Given the description of an element on the screen output the (x, y) to click on. 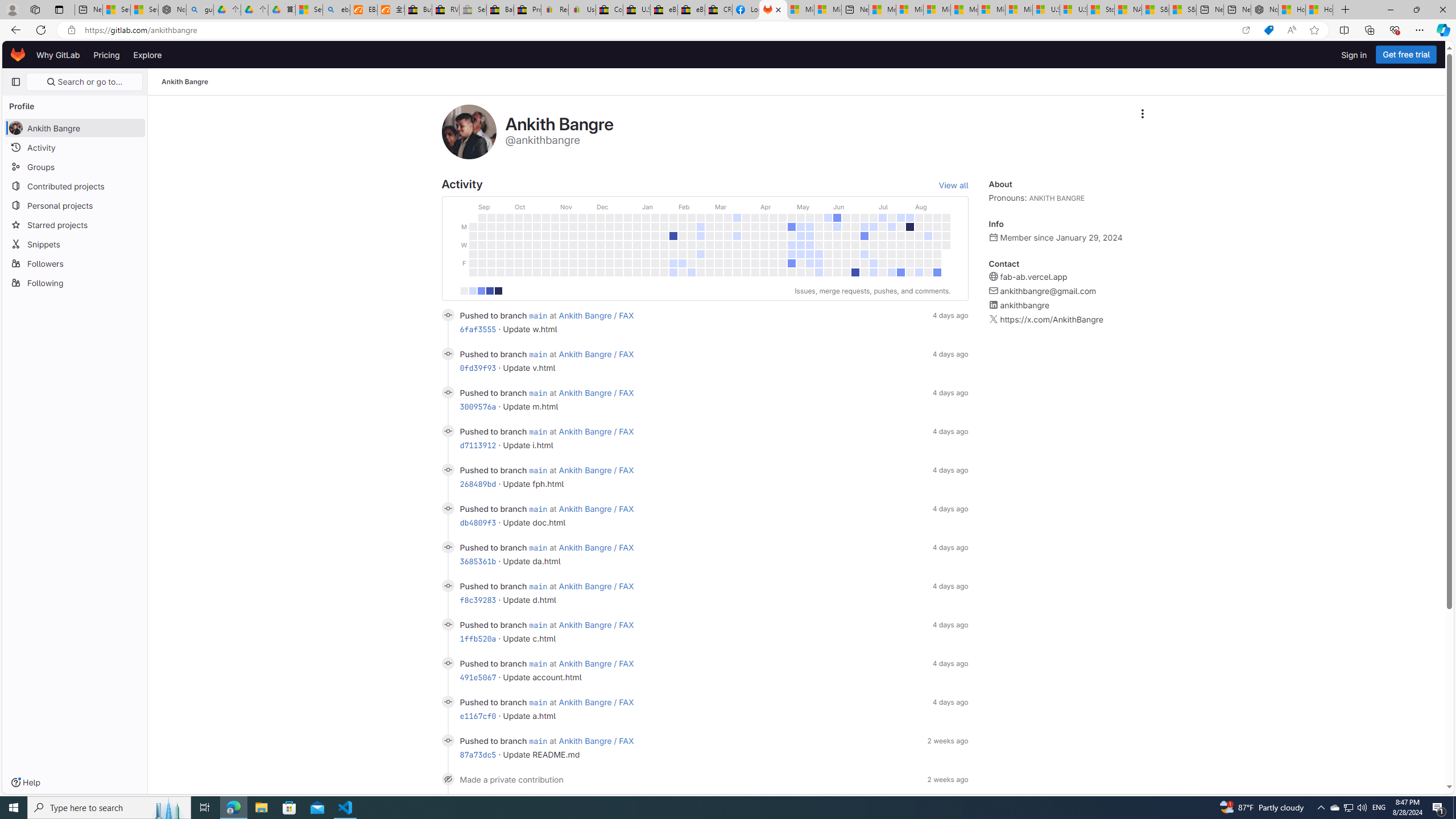
Get free trial (1406, 54)
Explore (146, 54)
